Given the description of an element on the screen output the (x, y) to click on. 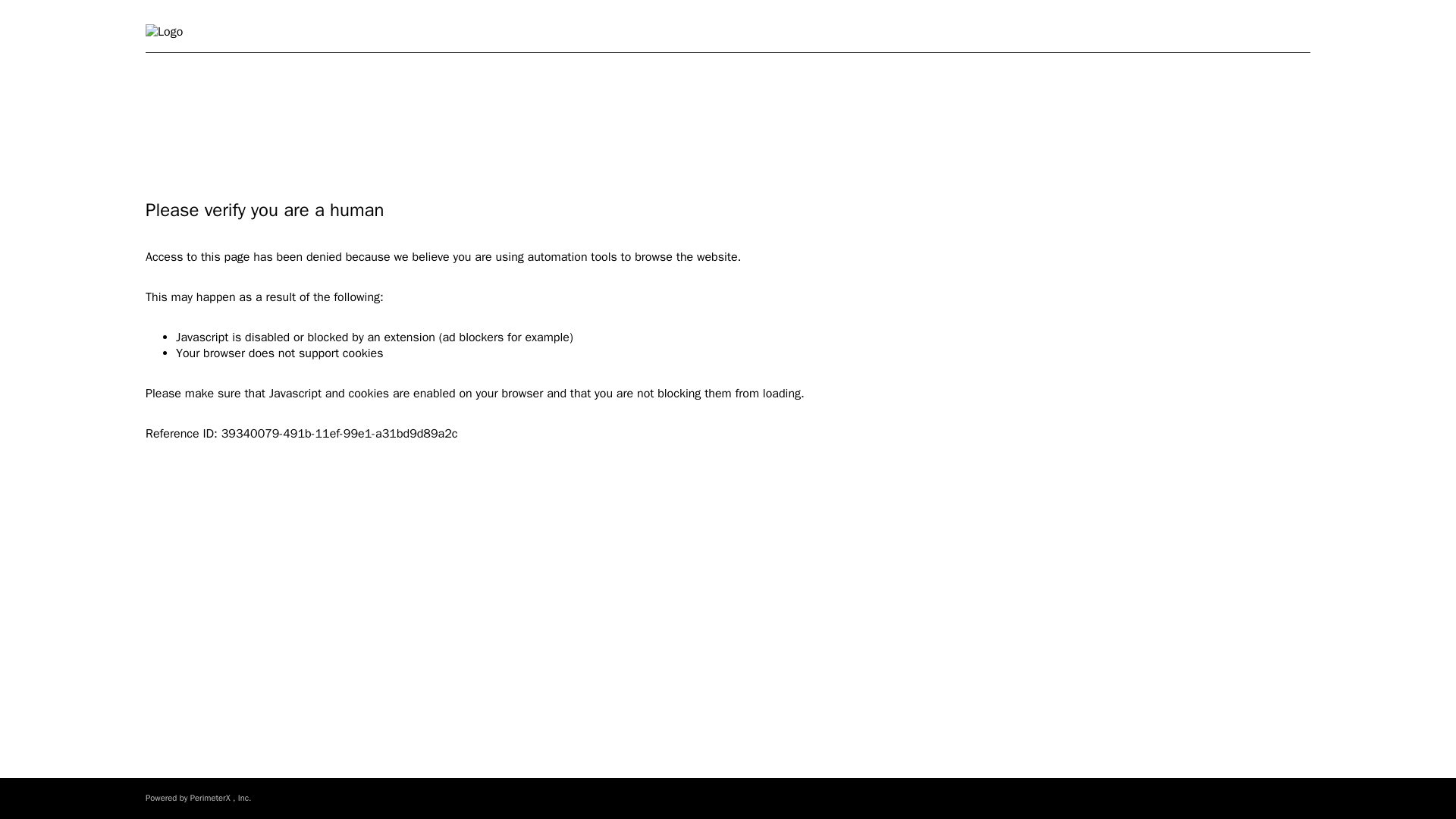
PerimeterX (210, 797)
